Given the description of an element on the screen output the (x, y) to click on. 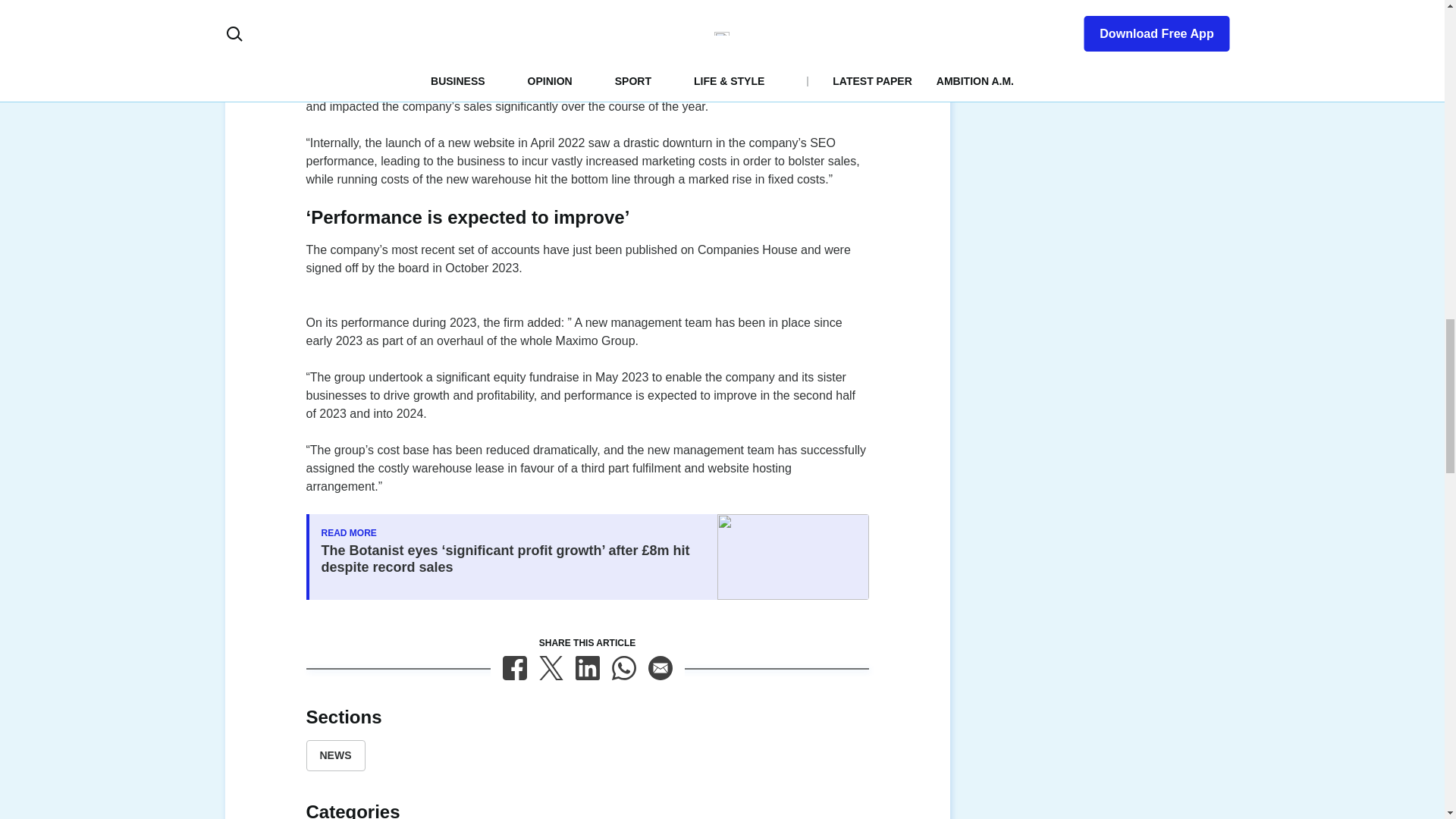
LinkedIn (586, 668)
X (550, 668)
WhatsApp (622, 668)
Facebook (513, 668)
Email (659, 668)
